Given the description of an element on the screen output the (x, y) to click on. 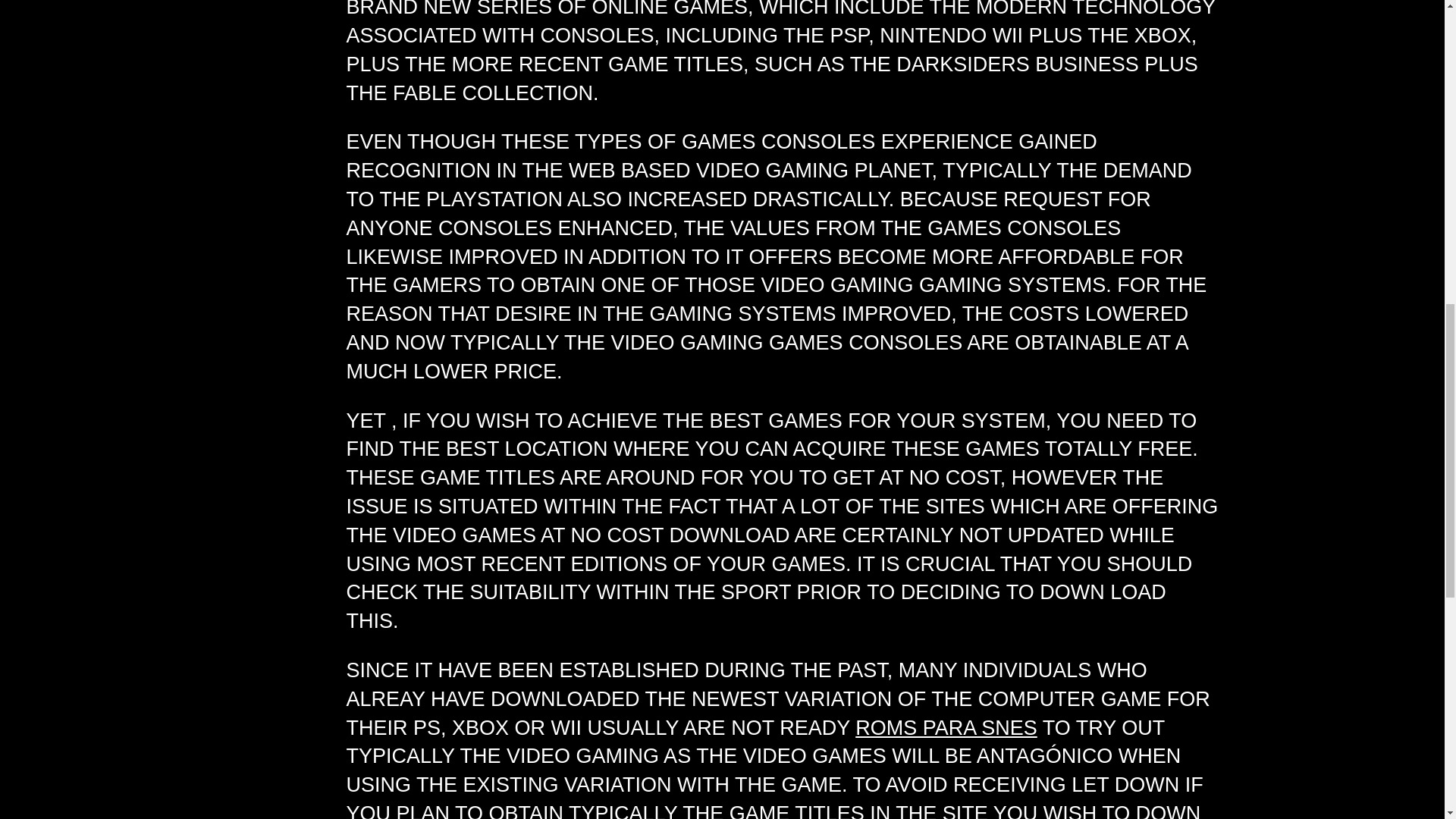
ROMS PARA SNES (946, 727)
